Given the description of an element on the screen output the (x, y) to click on. 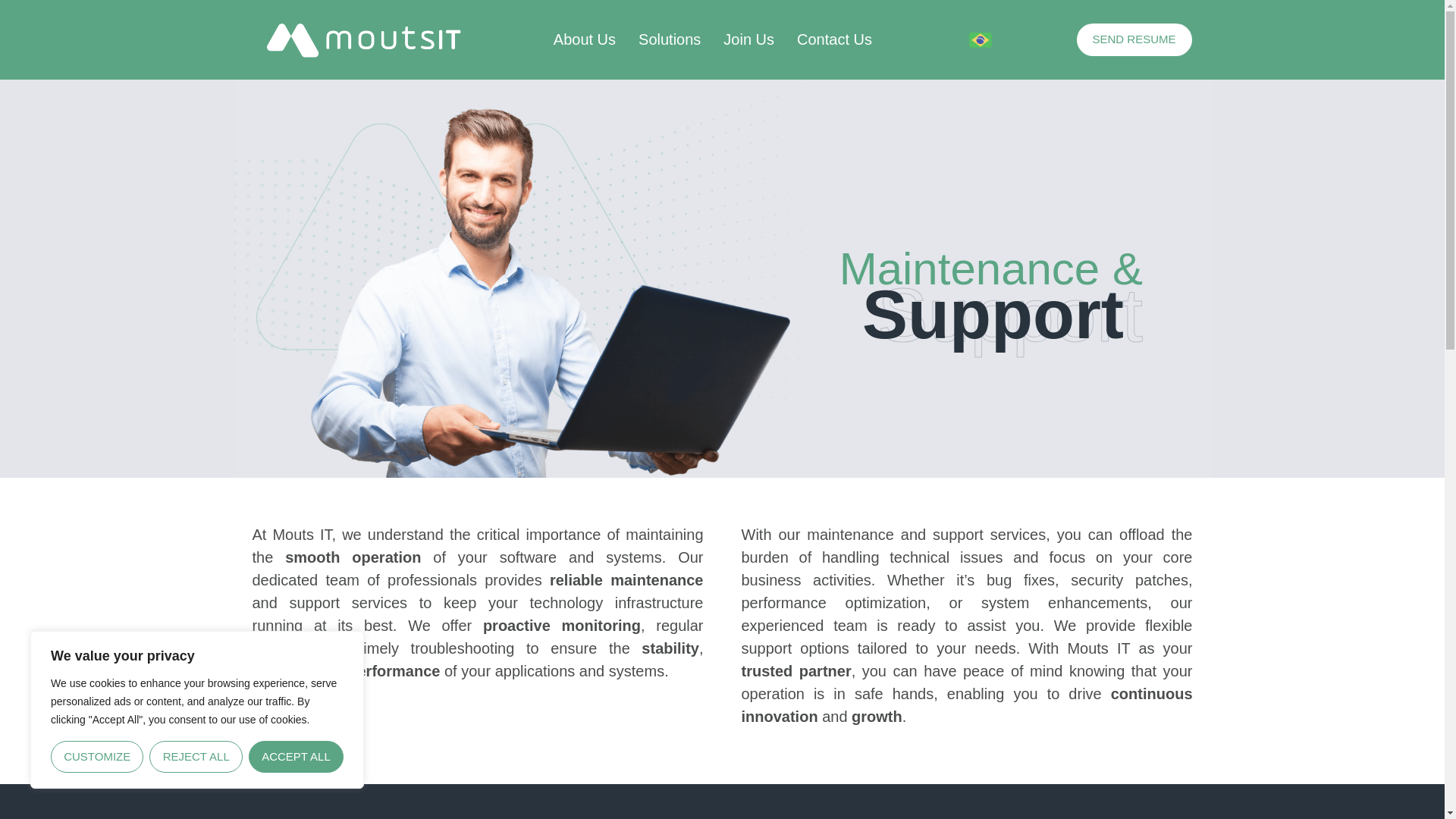
REJECT ALL (196, 757)
SEND RESUME (1134, 39)
Solutions (669, 38)
Contact Us (834, 38)
About Us (584, 38)
ACCEPT ALL (295, 757)
CUSTOMIZE (96, 757)
Join Us (748, 38)
